Given the description of an element on the screen output the (x, y) to click on. 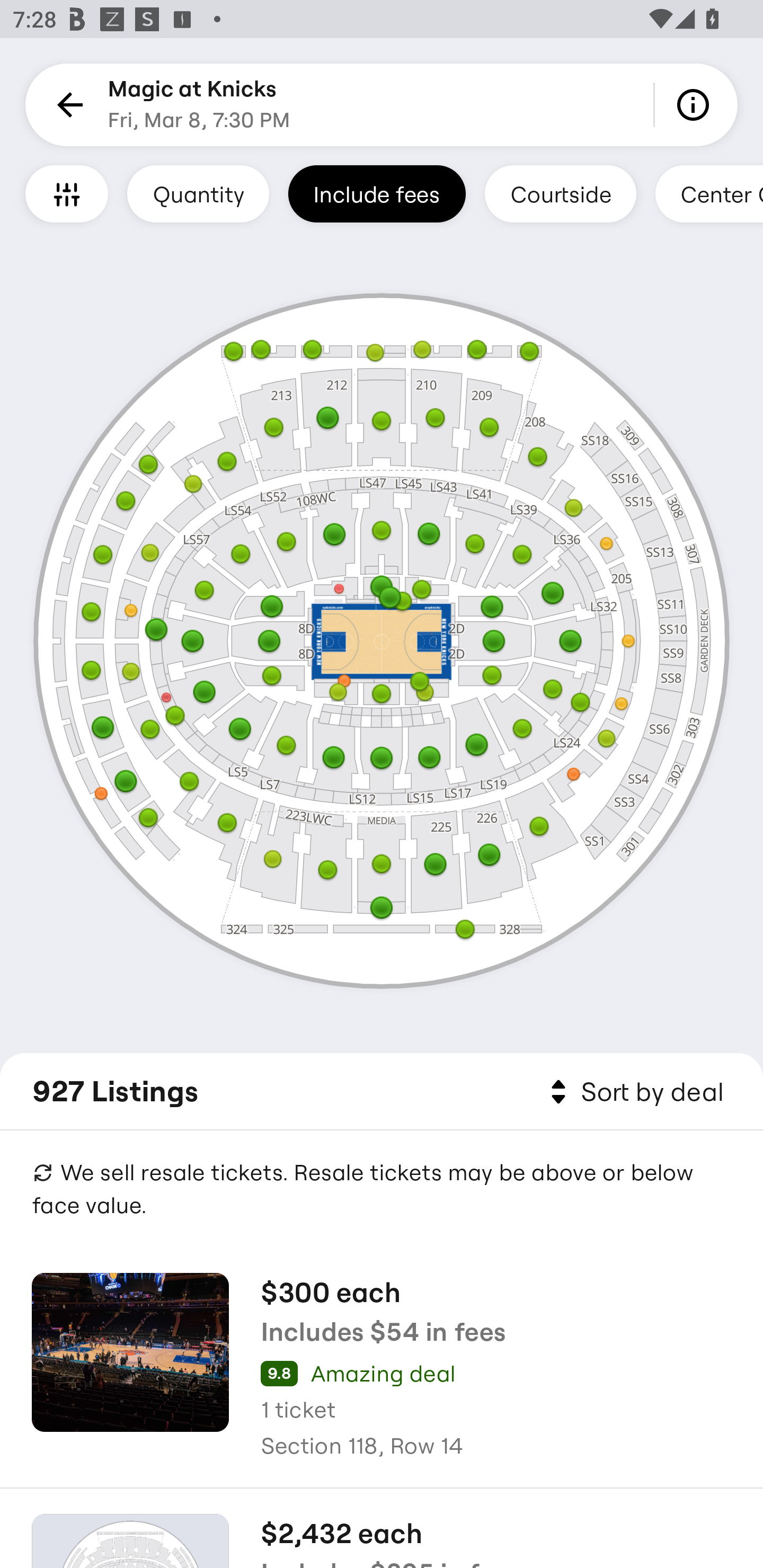
Back (66, 104)
Magic at Knicks Fri, Mar 8, 7:30 PM (198, 104)
Info (695, 104)
Filters and Accessible Seating (66, 193)
Quantity (198, 193)
Include fees (376, 193)
Courtside (560, 193)
Sort by deal (633, 1091)
